Given the description of an element on the screen output the (x, y) to click on. 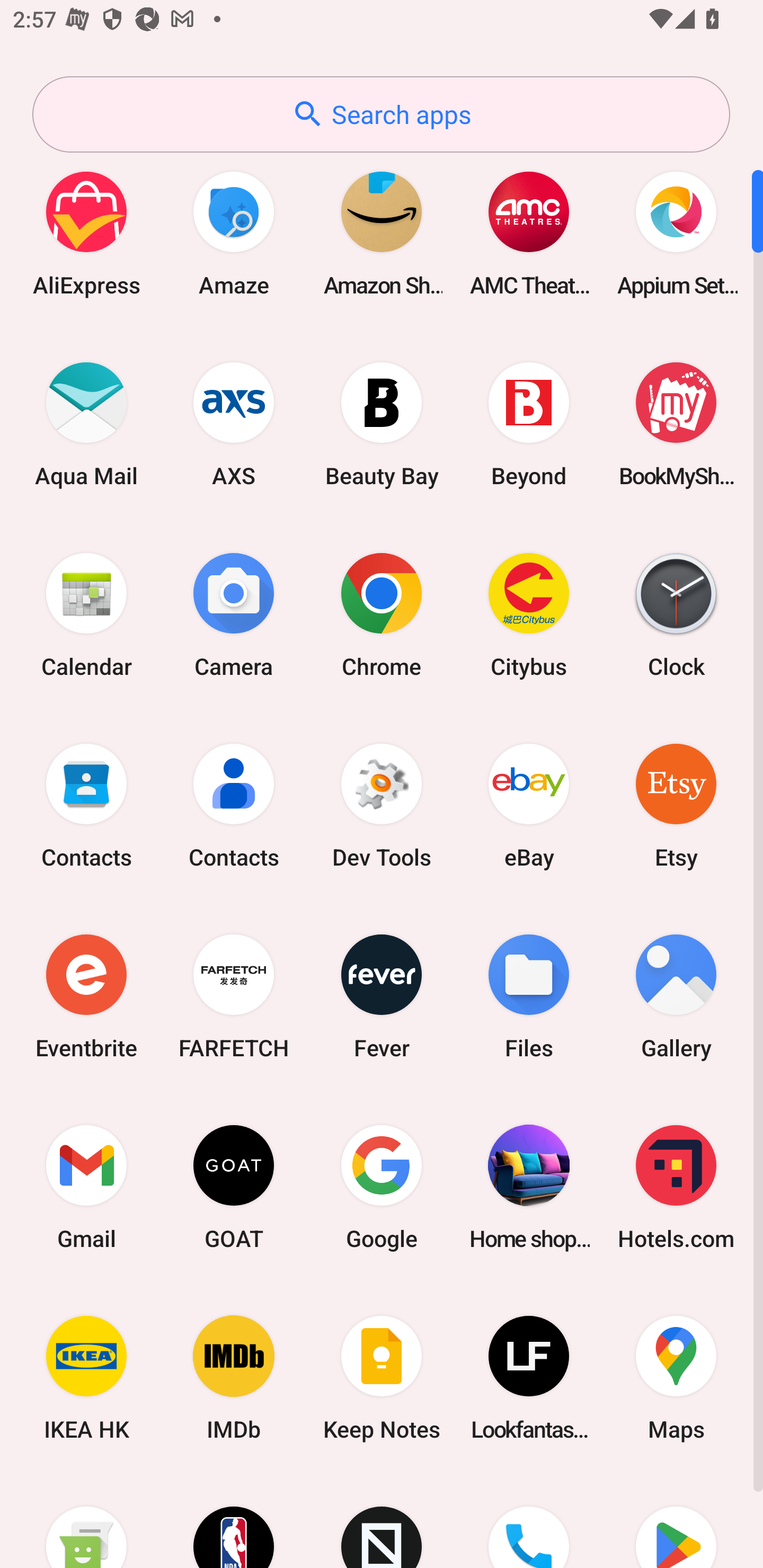
  Search apps (381, 114)
AliExpress (86, 233)
Amaze (233, 233)
Amazon Shopping (381, 233)
AMC Theatres (528, 233)
Appium Settings (676, 233)
Aqua Mail (86, 424)
AXS (233, 424)
Beauty Bay (381, 424)
Beyond (528, 424)
BookMyShow (676, 424)
Calendar (86, 614)
Camera (233, 614)
Chrome (381, 614)
Citybus (528, 614)
Clock (676, 614)
Contacts (86, 805)
Contacts (233, 805)
Dev Tools (381, 805)
eBay (528, 805)
Etsy (676, 805)
Eventbrite (86, 996)
FARFETCH (233, 996)
Fever (381, 996)
Files (528, 996)
Gallery (676, 996)
Gmail (86, 1186)
GOAT (233, 1186)
Google (381, 1186)
Home shopping (528, 1186)
Hotels.com (676, 1186)
IKEA HK (86, 1377)
IMDb (233, 1377)
Keep Notes (381, 1377)
Lookfantastic (528, 1377)
Maps (676, 1377)
Messaging (86, 1520)
NBA (233, 1520)
Novelship (381, 1520)
Phone (528, 1520)
Play Store (676, 1520)
